Given the description of an element on the screen output the (x, y) to click on. 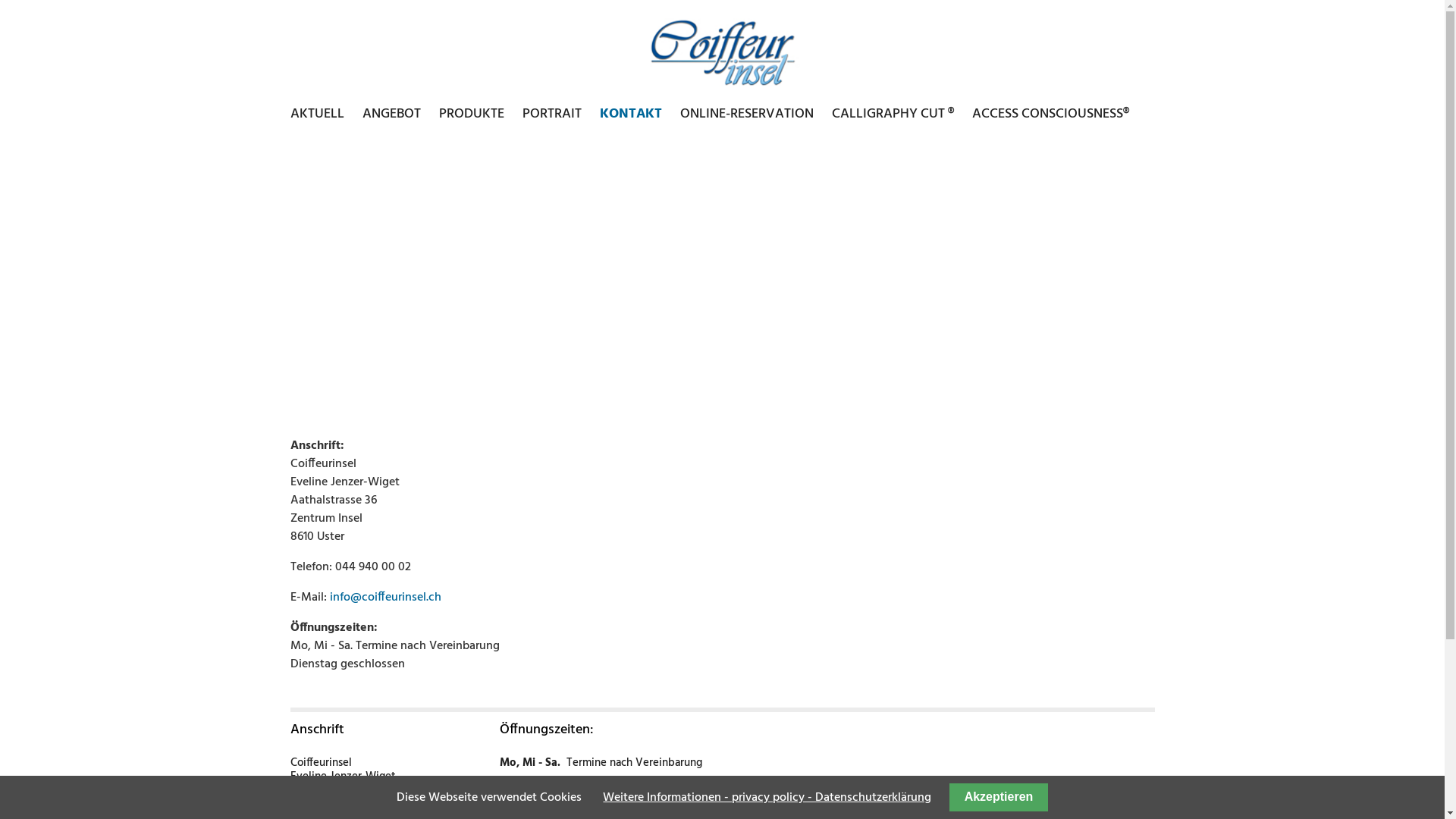
coiffure insel Uster Element type: hover (721, 49)
  Element type: text (289, 131)
info@coiffeurinsel.ch Element type: text (384, 597)
PORTRAIT Element type: text (551, 113)
AKTUELL Element type: text (320, 113)
ONLINE-RESERVATION Element type: text (745, 113)
ANGEBOT Element type: text (391, 113)
Akzeptieren Element type: text (998, 797)
PRODUKTE Element type: text (470, 113)
